Given the description of an element on the screen output the (x, y) to click on. 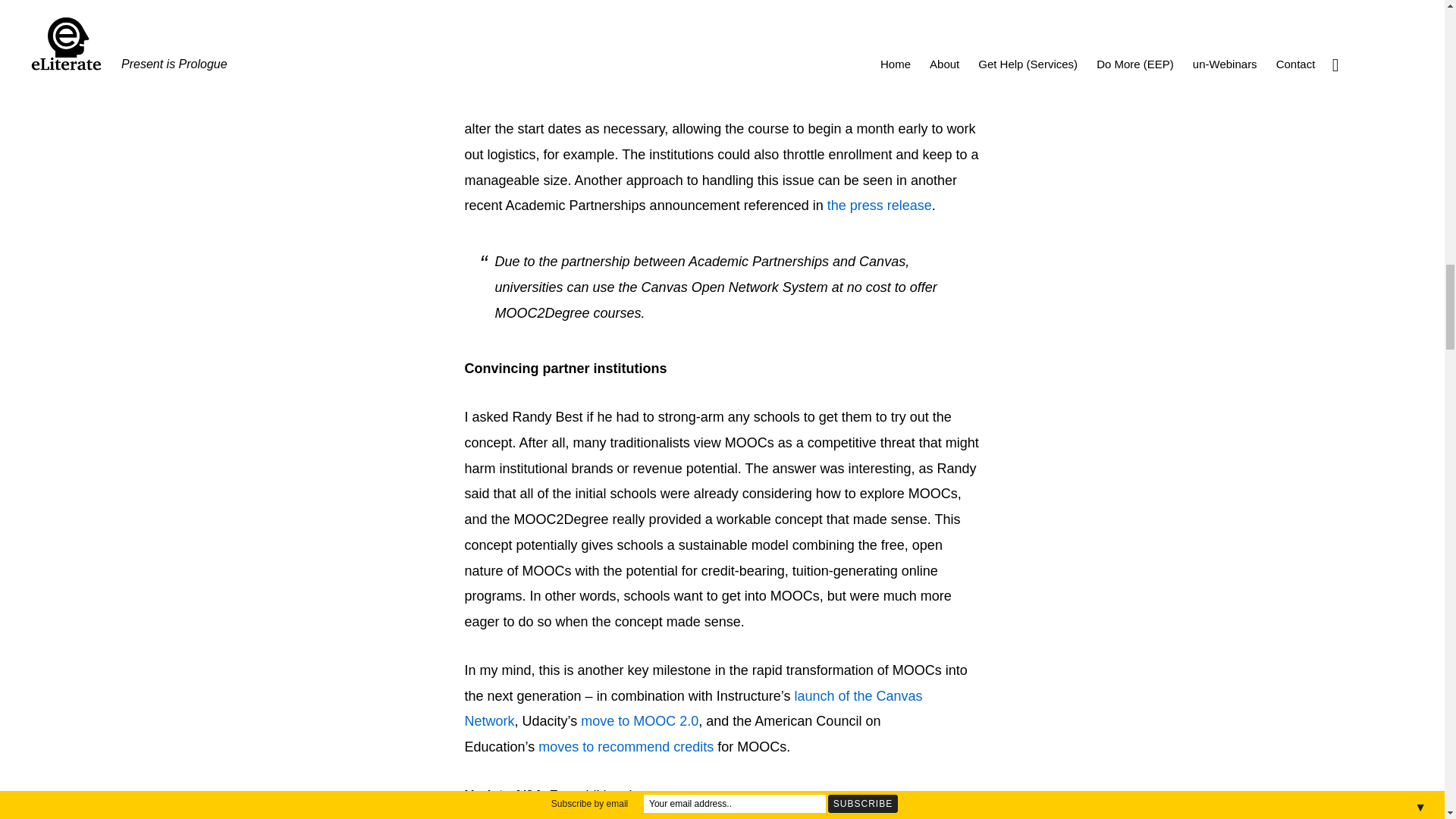
moves to recommend credits (625, 746)
the press release (879, 205)
launch of the Canvas Network (692, 708)
move to MOOC 2.0 (639, 720)
